Given the description of an element on the screen output the (x, y) to click on. 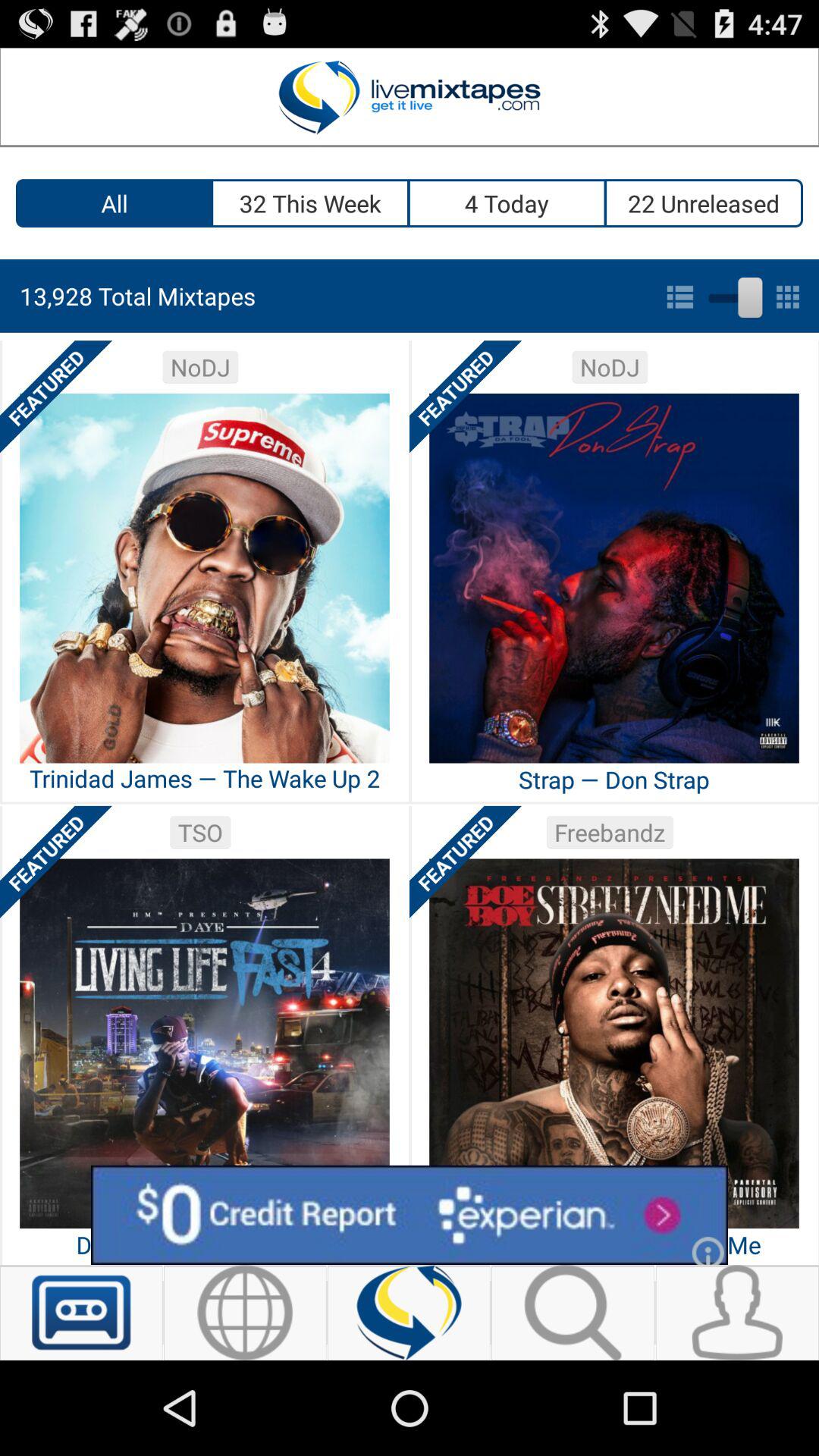
launch the app next to 4 today (704, 203)
